Given the description of an element on the screen output the (x, y) to click on. 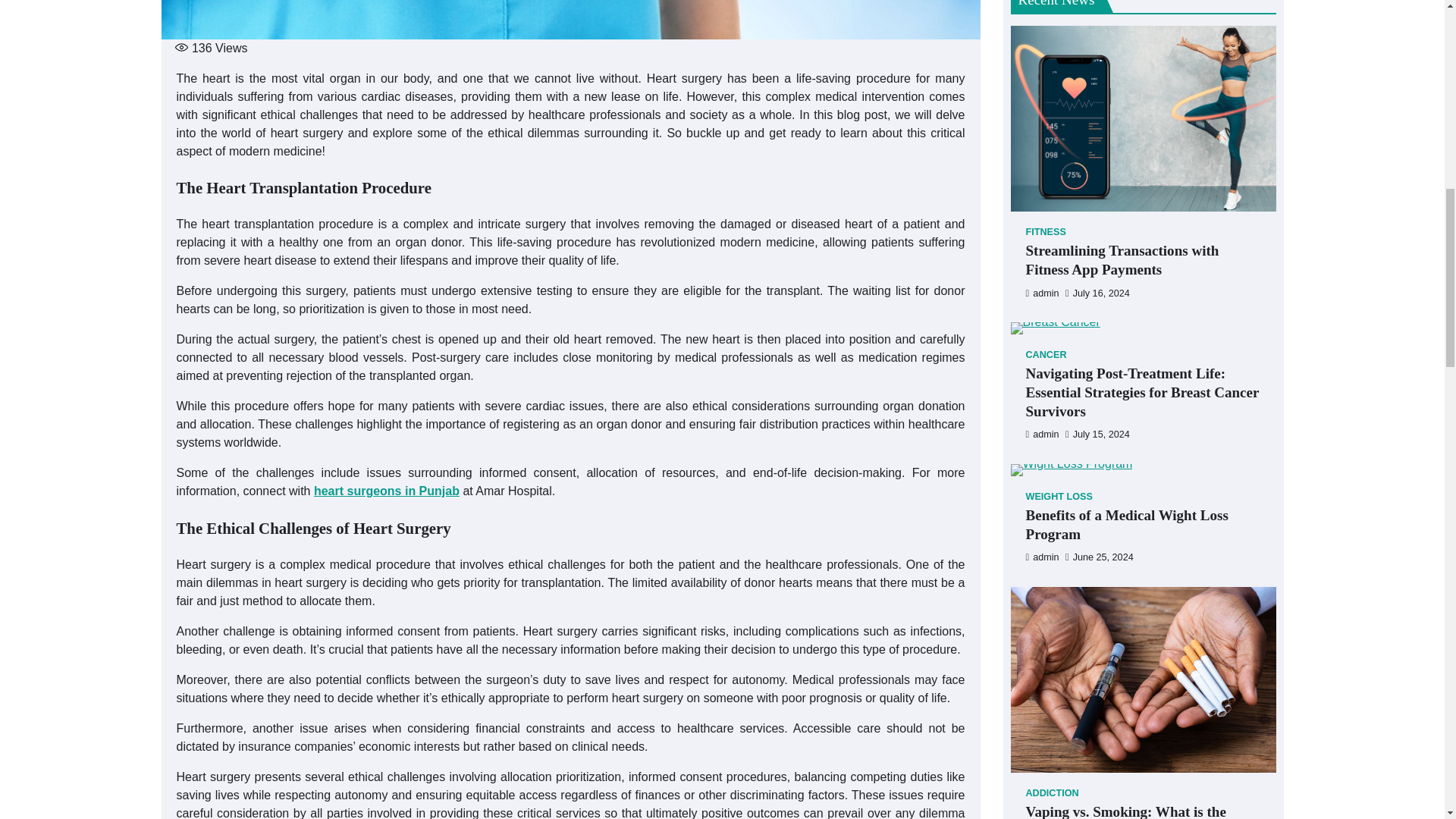
heart (328, 490)
surgeons in Punjab (401, 490)
